Given the description of an element on the screen output the (x, y) to click on. 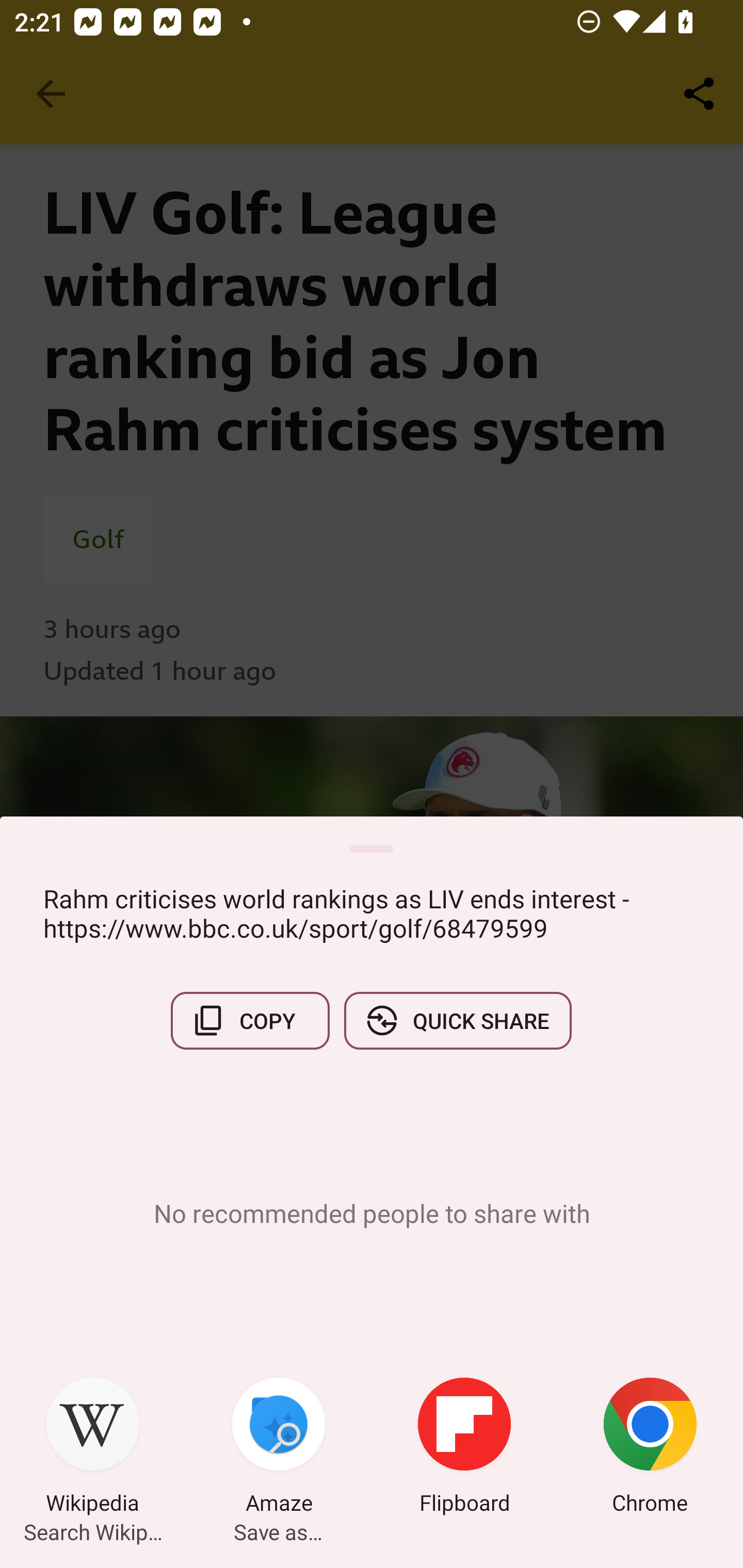
COPY (249, 1020)
QUICK SHARE (457, 1020)
Wikipedia Search Wikipedia (92, 1448)
Amaze Save as… (278, 1448)
Flipboard (464, 1448)
Chrome (650, 1448)
